Given the description of an element on the screen output the (x, y) to click on. 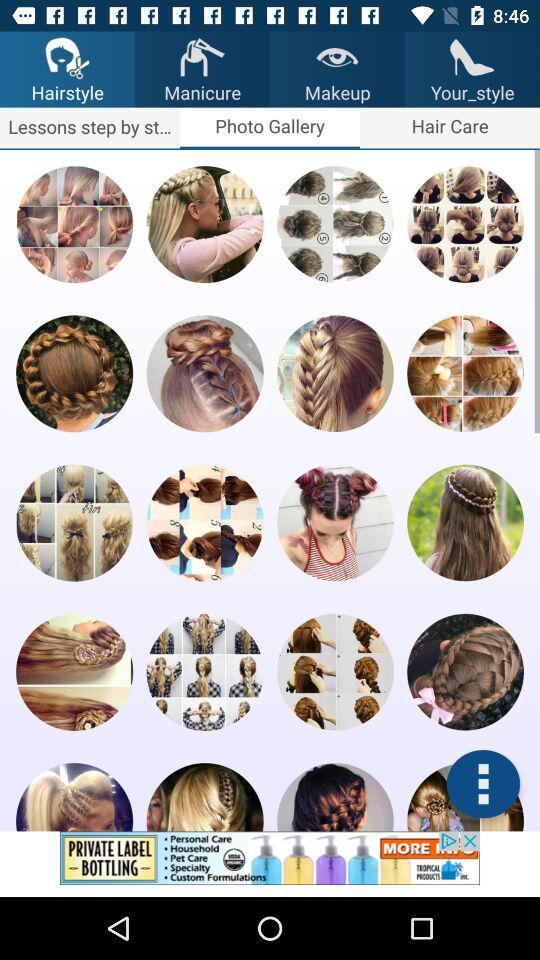
view the image (204, 522)
